Given the description of an element on the screen output the (x, y) to click on. 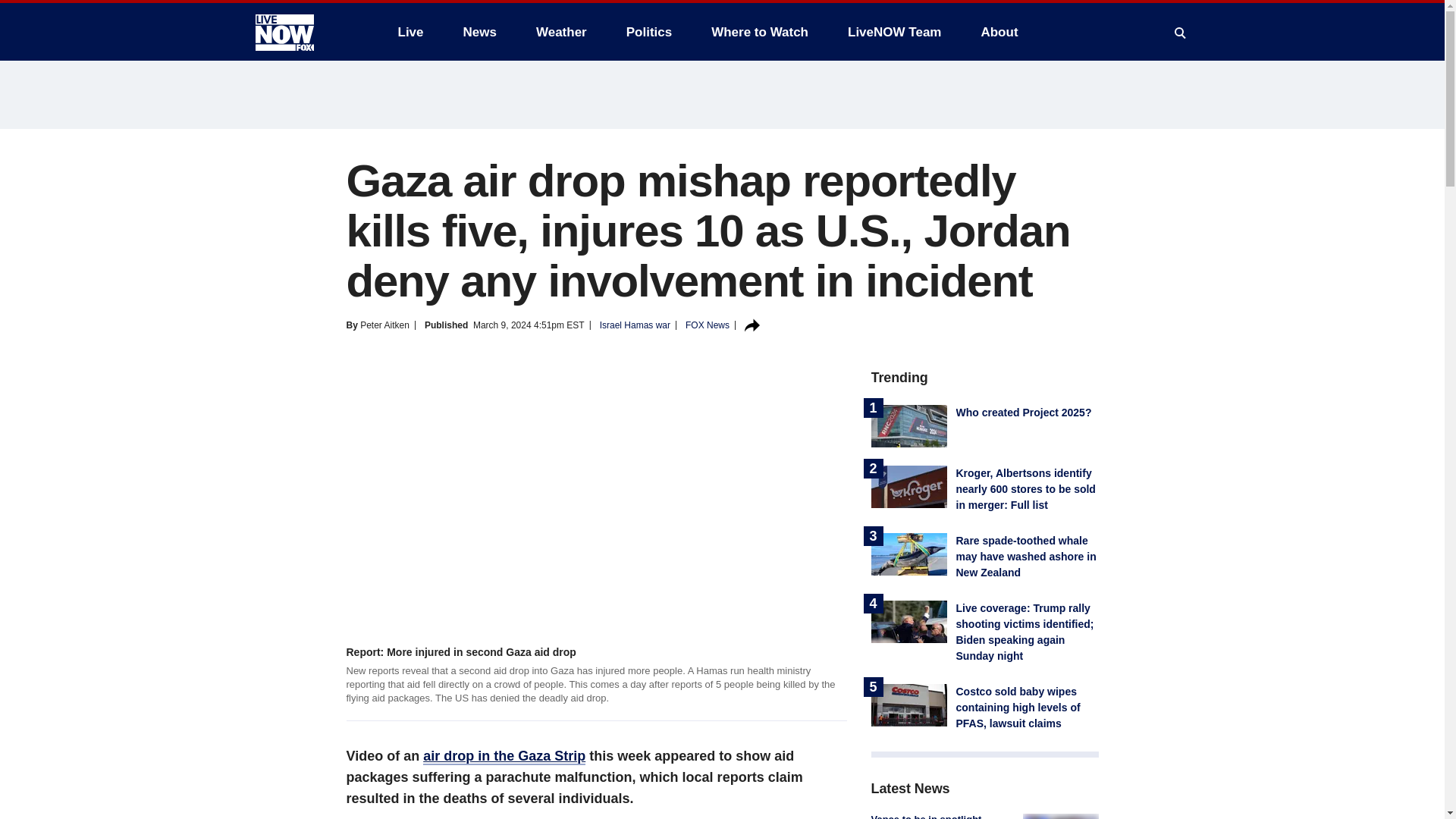
LiveNOW Team (894, 32)
About (998, 32)
Live (410, 32)
Where to Watch (759, 32)
Weather (561, 32)
Politics (649, 32)
News (479, 32)
